Given the description of an element on the screen output the (x, y) to click on. 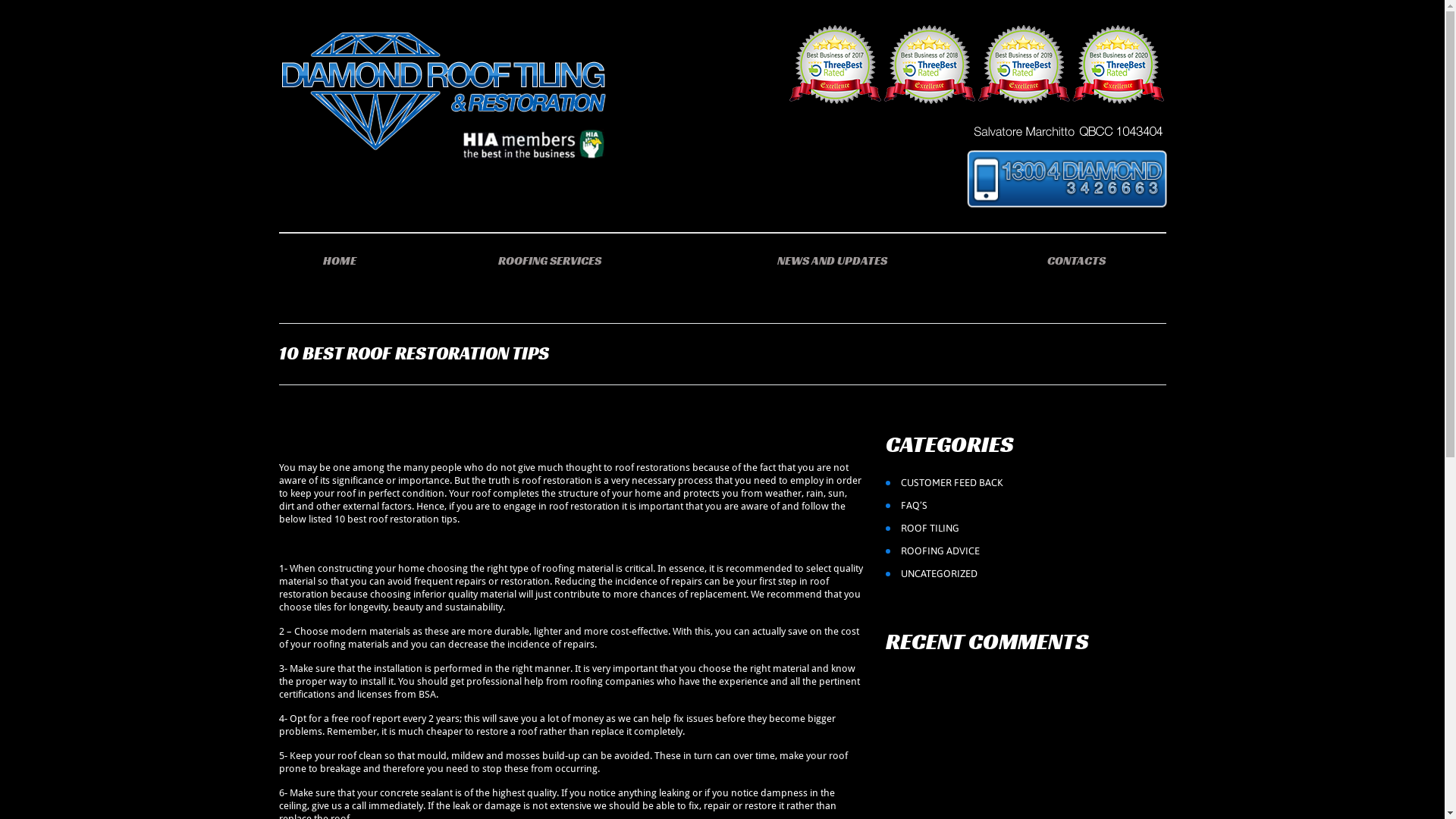
Roofing Services Element type: hover (443, 90)
Roof Repairs Element type: hover (976, 64)
ROOF TILING Element type: text (929, 527)
CONTACTS Element type: text (1075, 260)
Roof cleaning Element type: hover (1067, 133)
ROOFING SERVICES Element type: text (550, 260)
CUSTOMER FEED BACK Element type: text (951, 482)
NEWS AND UPDATES Element type: text (831, 260)
HOME Element type: text (340, 260)
UNCATEGORIZED Element type: text (938, 573)
Roof cleaning Element type: hover (1066, 177)
ROOFING ADVICE Element type: text (939, 550)
